Given the description of an element on the screen output the (x, y) to click on. 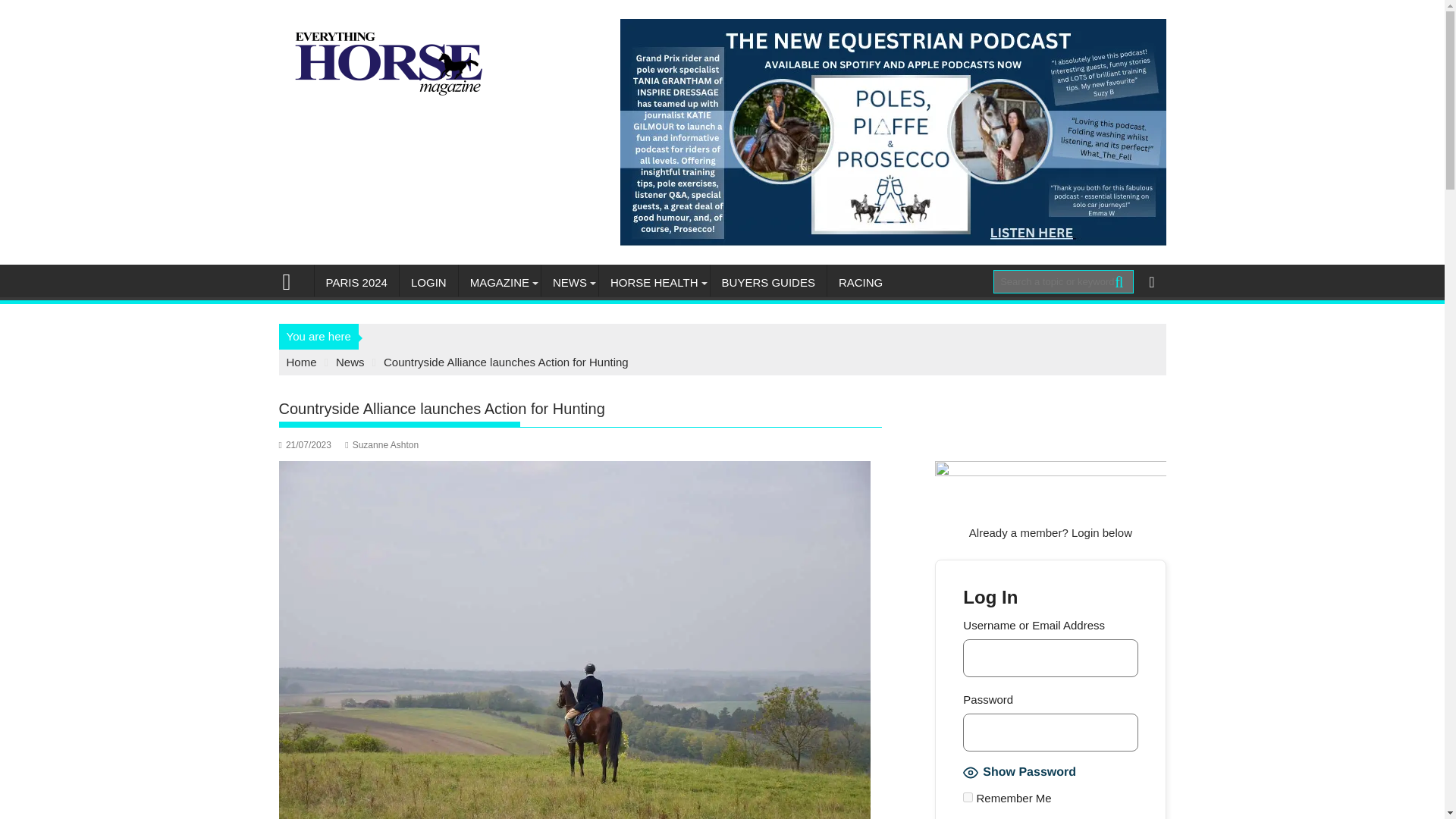
News (350, 361)
MAGAZINE (499, 282)
BUYERS GUIDES (768, 282)
HORSE HEALTH (654, 282)
NEWS (569, 282)
Home (301, 361)
forever (967, 797)
LOGIN (428, 282)
Everything Horse Magazine (293, 280)
RACING (860, 282)
PARIS 2024 (355, 282)
